Given the description of an element on the screen output the (x, y) to click on. 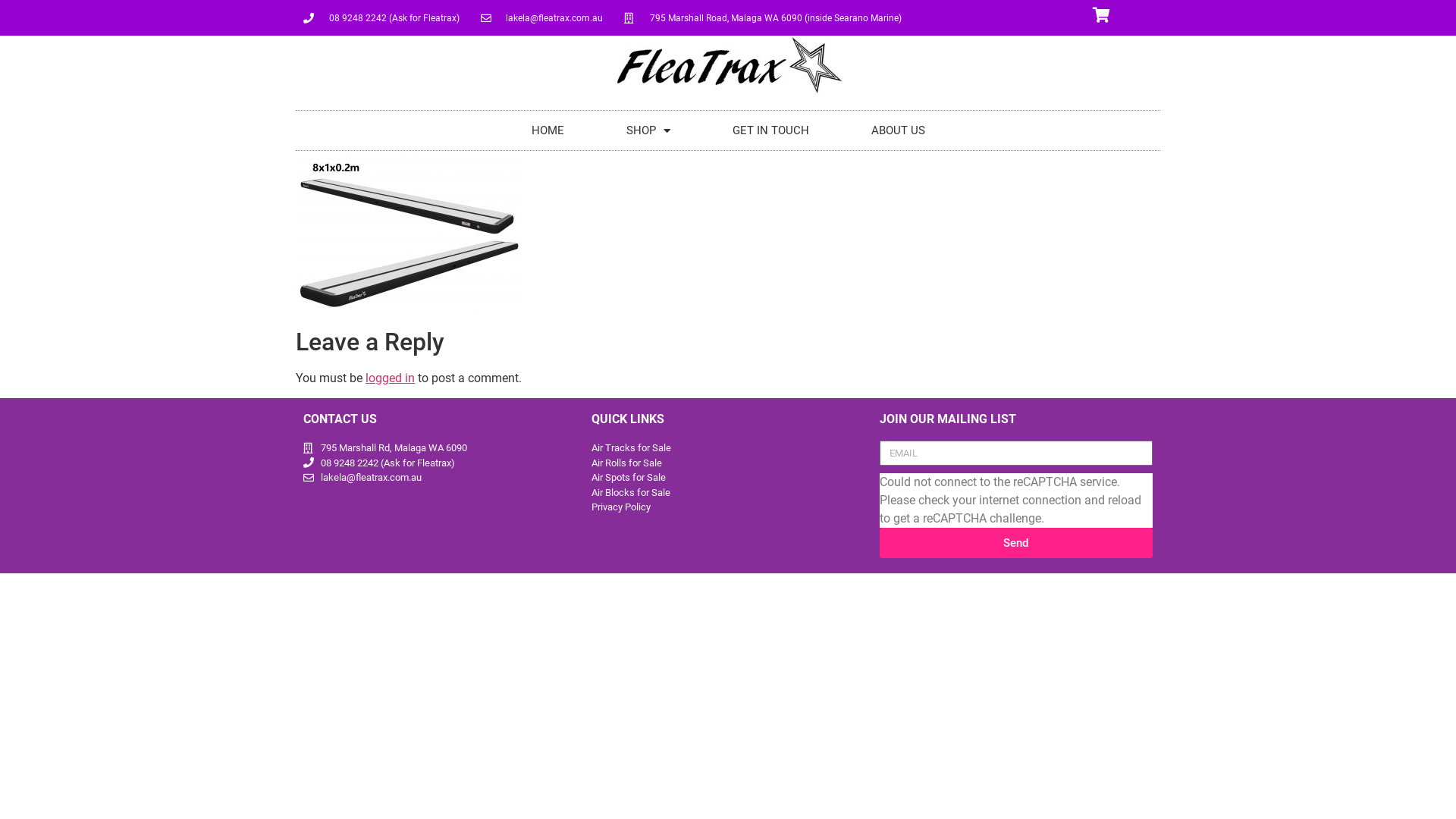
GET IN TOUCH Element type: text (769, 130)
Privacy Policy Element type: text (727, 506)
08 9248 2242 (Ask for Fleatrax) Element type: text (439, 462)
08 9248 2242 (Ask for Fleatrax) Element type: text (381, 17)
Air Tracks for Sale Element type: text (727, 447)
logged in Element type: text (389, 377)
lakela@fleatrax.com.au Element type: text (541, 17)
ABOUT US Element type: text (898, 130)
SHOP Element type: text (647, 130)
HOME Element type: text (547, 130)
lakela@fleatrax.com.au Element type: text (439, 477)
Send Element type: text (1015, 542)
Air Rolls for Sale Element type: text (727, 462)
